Given the description of an element on the screen output the (x, y) to click on. 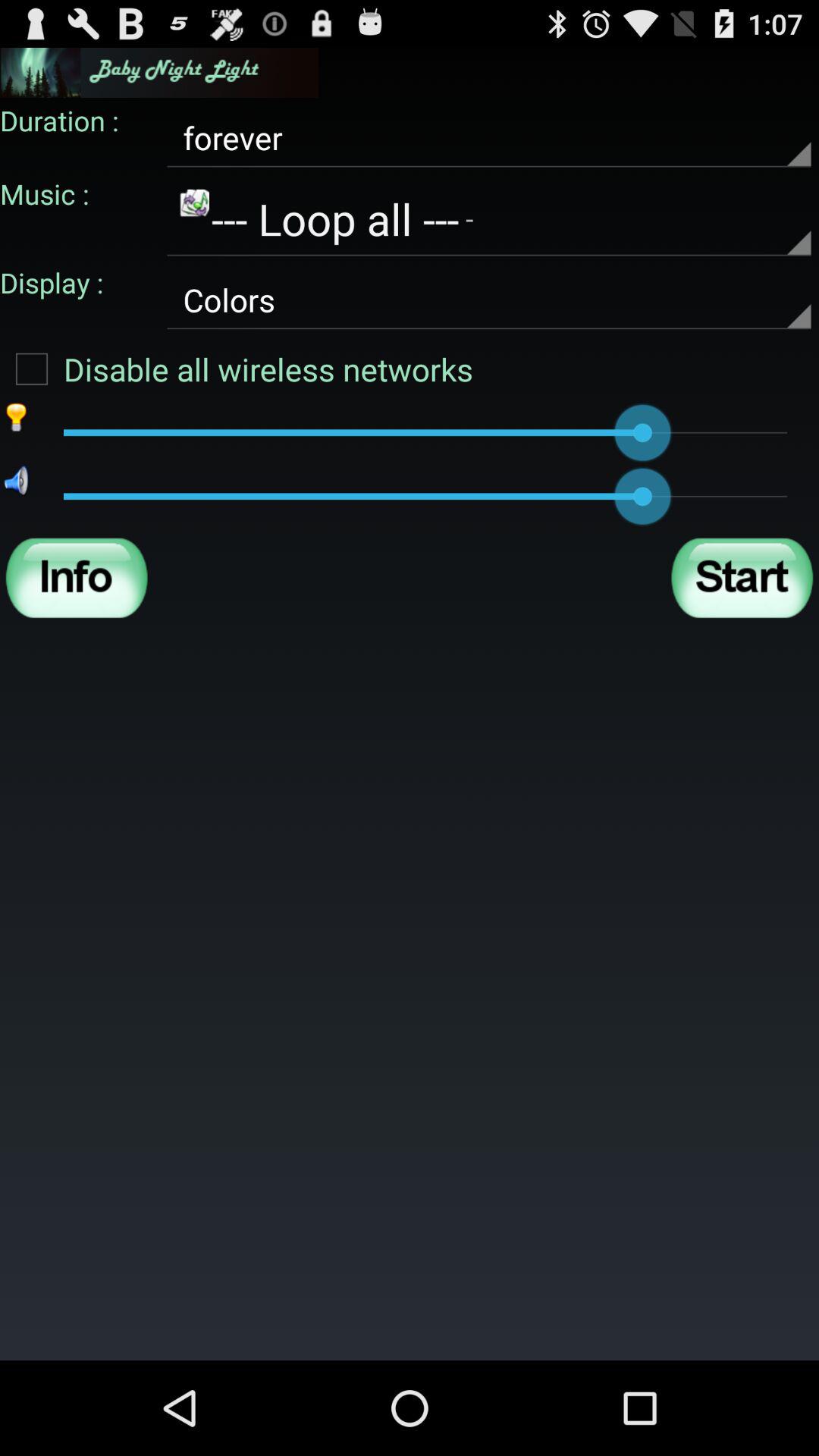
turn on icon on the right (742, 577)
